Given the description of an element on the screen output the (x, y) to click on. 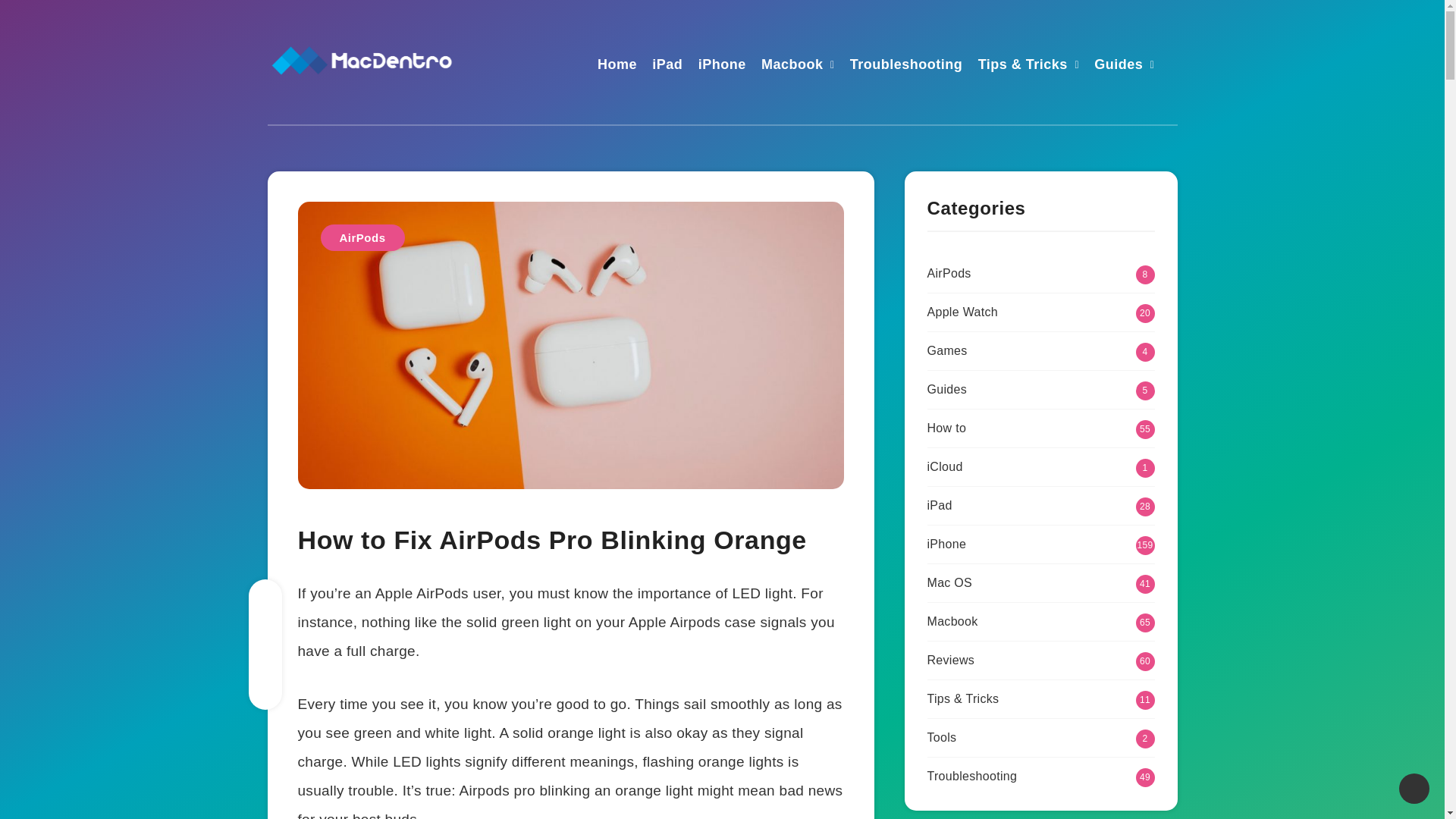
iPhone (721, 65)
Macbook (792, 65)
Guides (1118, 65)
AirPods (362, 237)
Troubleshooting (906, 65)
Home (616, 65)
iPad (667, 65)
